Given the description of an element on the screen output the (x, y) to click on. 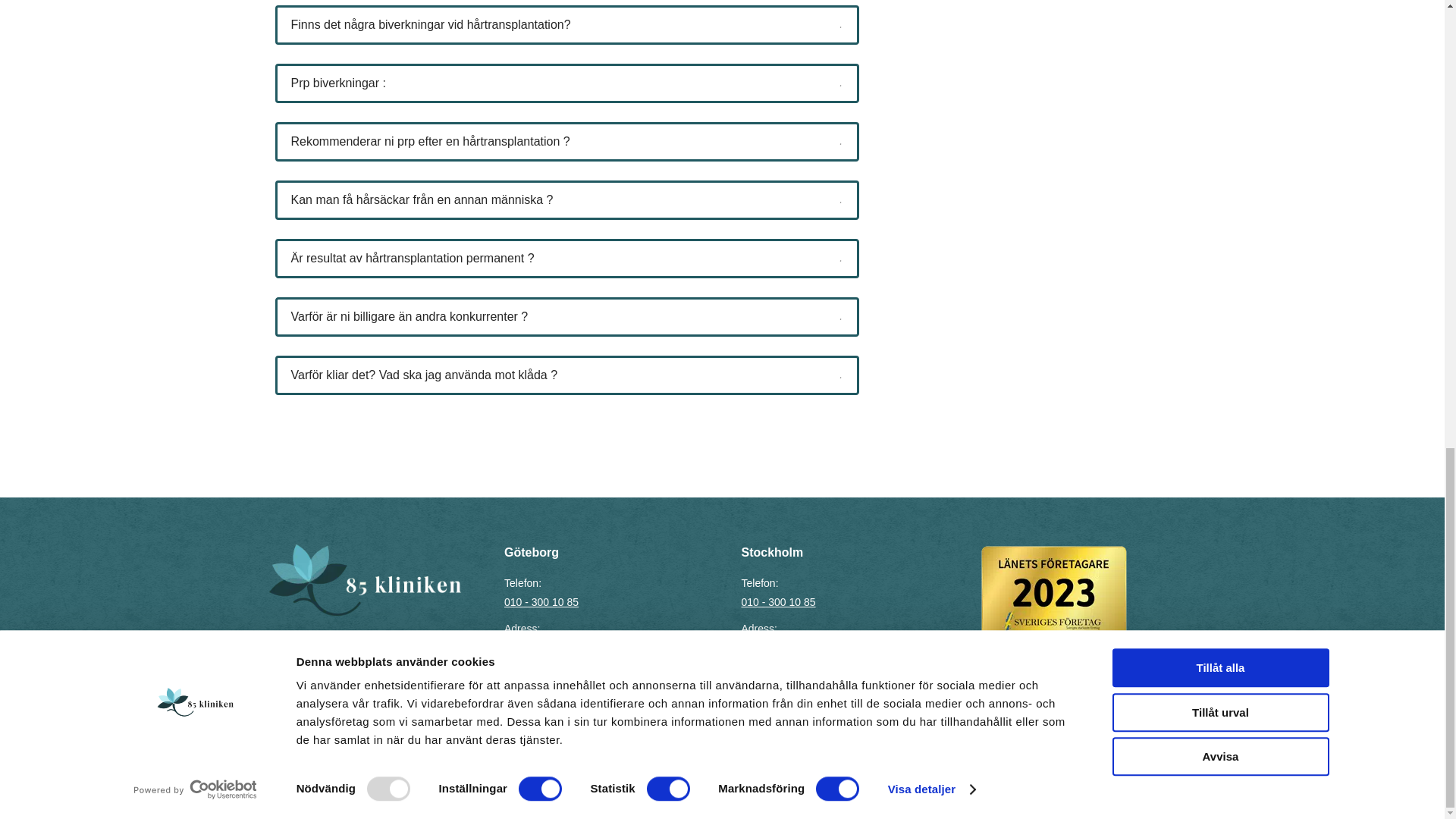
Instagram page opens in new window (560, 725)
Facebook page opens in new window (515, 725)
YouTube page opens in new window (538, 725)
